Given the description of an element on the screen output the (x, y) to click on. 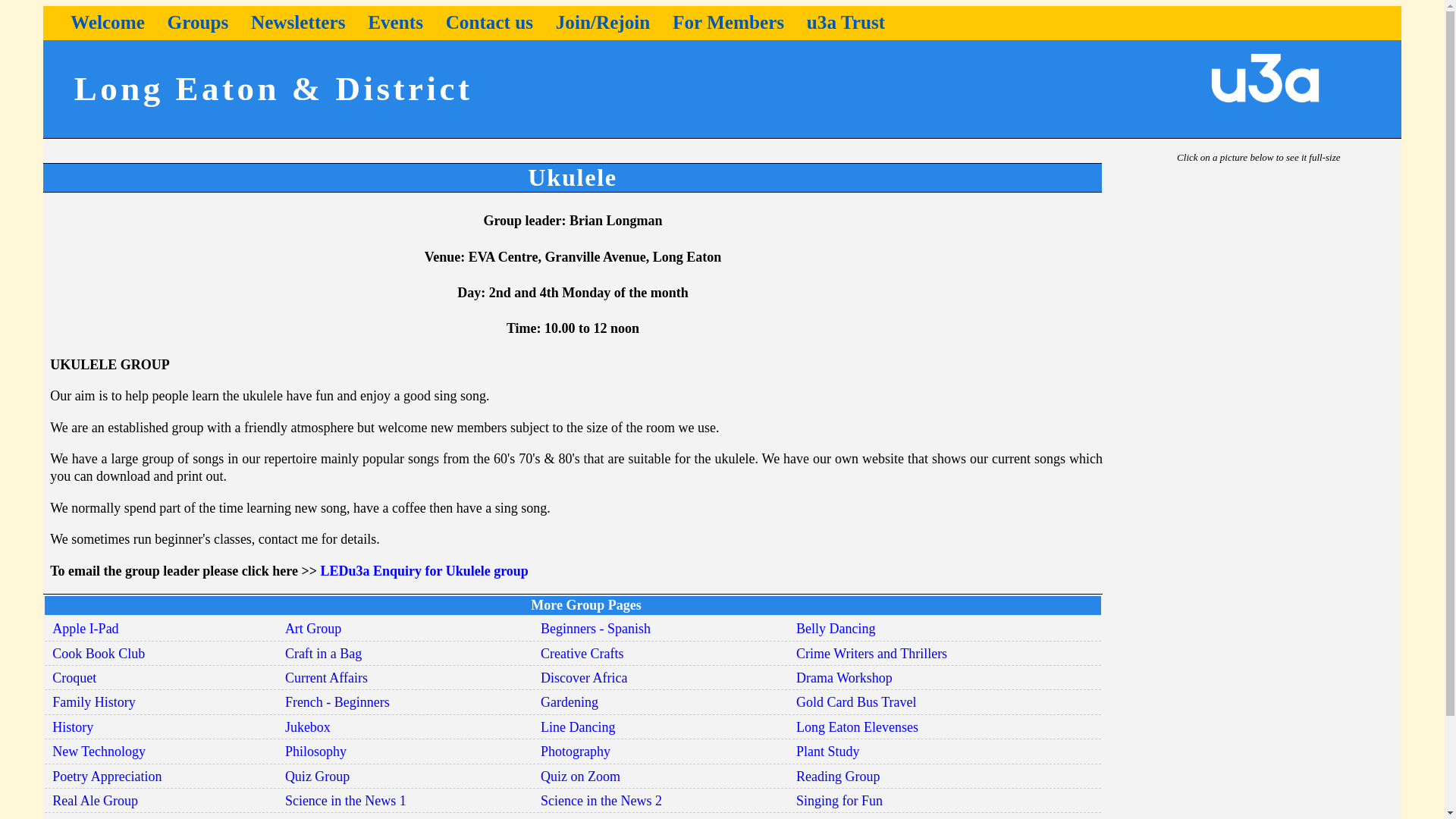
Photography (575, 751)
Science in the News 1 (345, 800)
Contact us (488, 22)
Gold Card Bus Travel (856, 702)
For Members (728, 22)
Family History (93, 702)
Poetry Appreciation (106, 776)
LEDu3a Enquiry for Ukulele group (423, 570)
French - Beginners (337, 702)
Reading Group (837, 776)
